Given the description of an element on the screen output the (x, y) to click on. 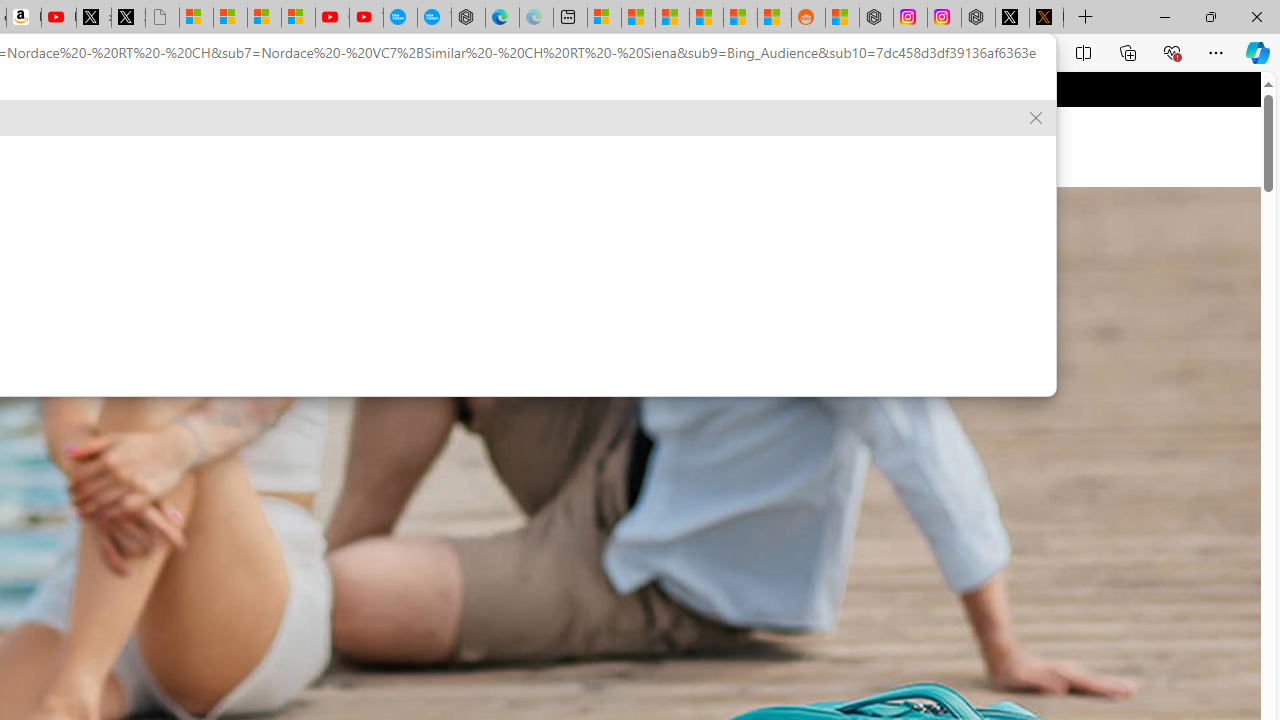
Microsoft account | Microsoft Account Privacy Settings (603, 17)
Gloom - YouTube (332, 17)
X (127, 17)
Nordace - Summer Adventures 2024 (978, 17)
help.x.com | 524: A timeout occurred (1046, 17)
Split screen (1083, 52)
New Tab (1085, 17)
 0  (679, 146)
Collections (1128, 52)
Shanghai, China hourly forecast | Microsoft Weather (671, 17)
Browser essentials (1171, 52)
